Given the description of an element on the screen output the (x, y) to click on. 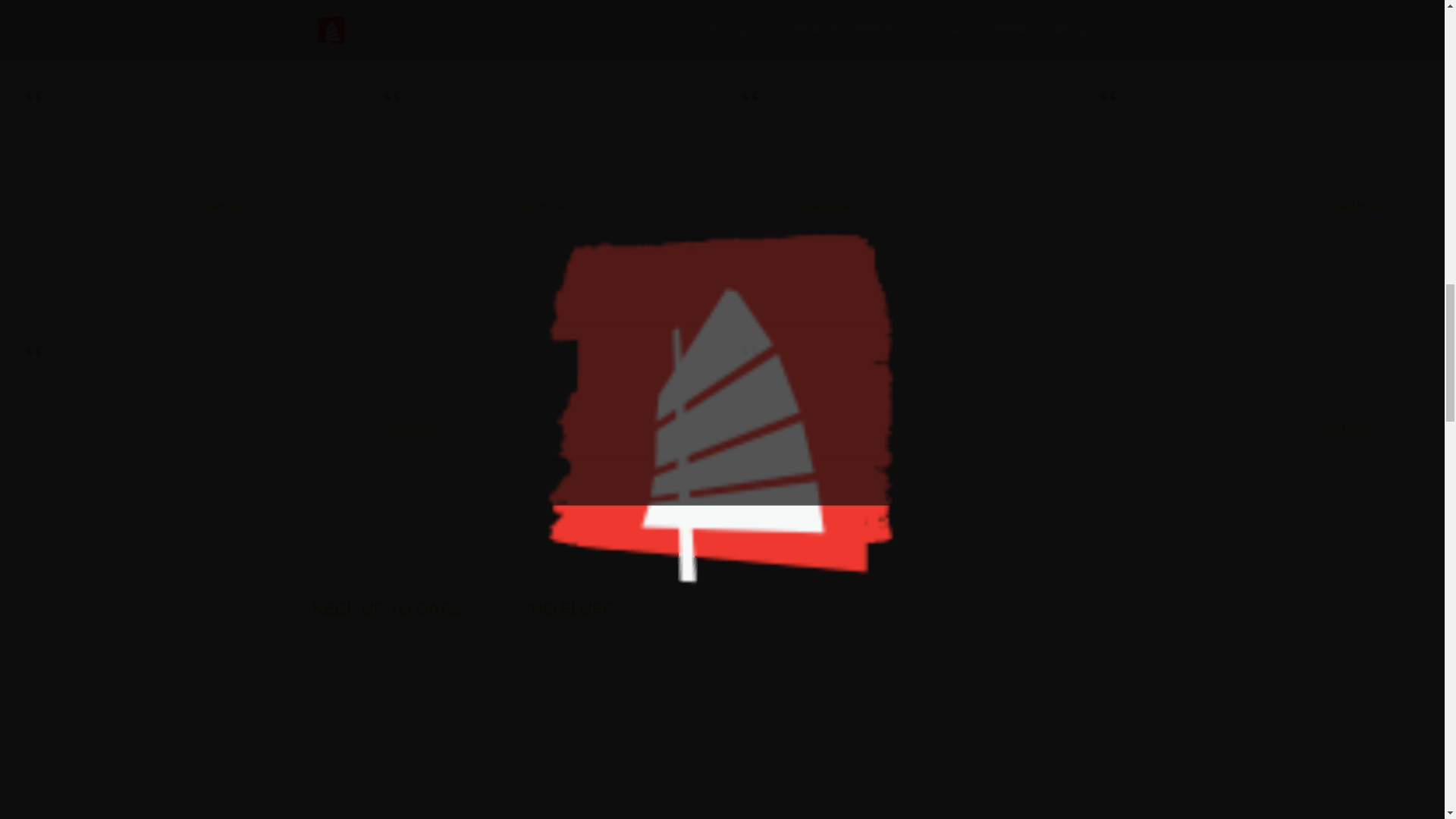
... read more (1350, 205)
... read more (1341, 427)
... read more (818, 205)
... read more (406, 427)
... read more (533, 205)
... read more (221, 205)
